Given the description of an element on the screen output the (x, y) to click on. 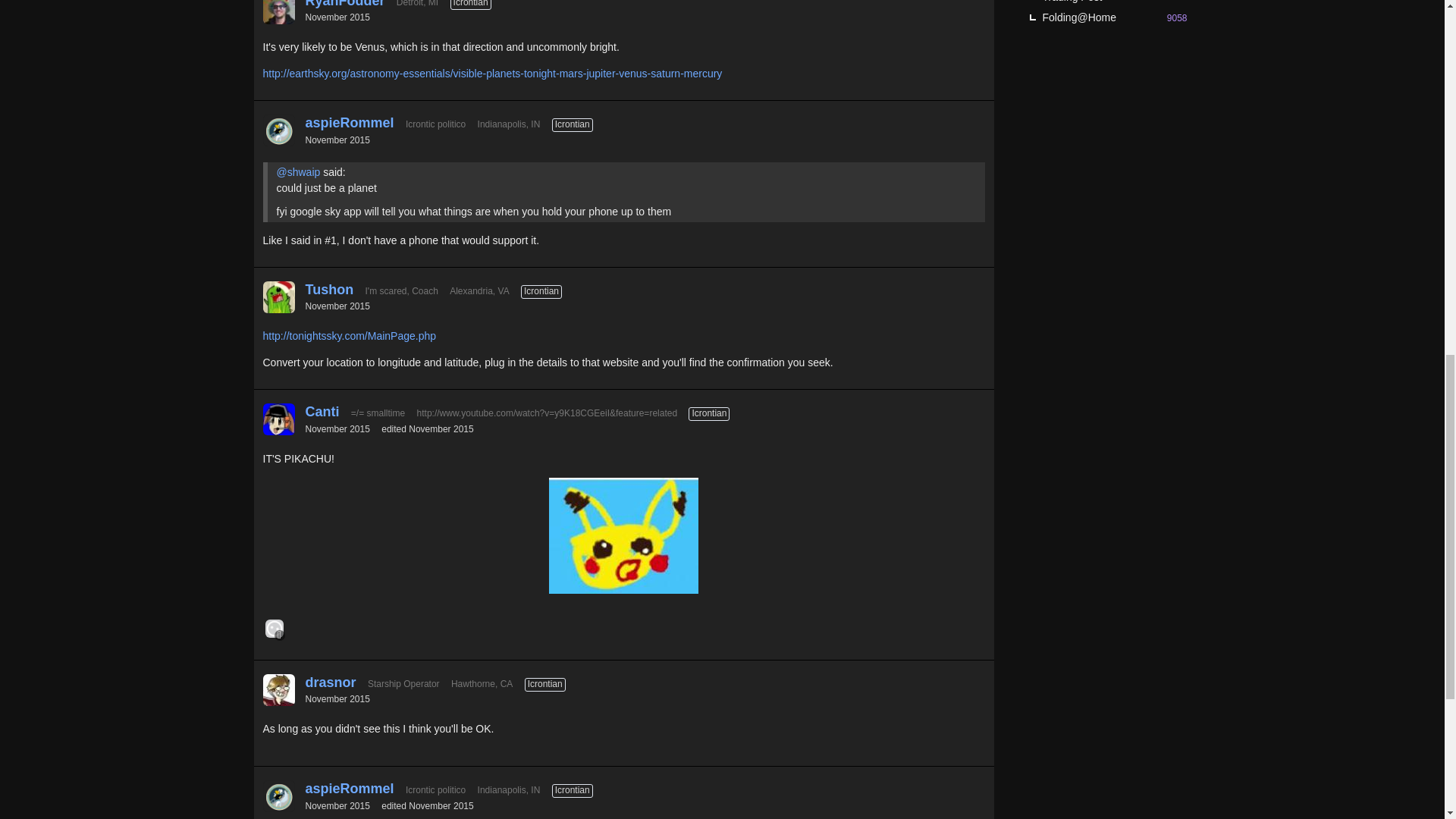
November 14, 2015 5:54PM (336, 17)
aspieRommel (278, 130)
Icrontian (470, 4)
November 2015 (336, 17)
November 2015 (336, 140)
RyanFodder (278, 12)
aspieRommel (348, 122)
Icrontian (571, 124)
RyanFodder (344, 4)
